Given the description of an element on the screen output the (x, y) to click on. 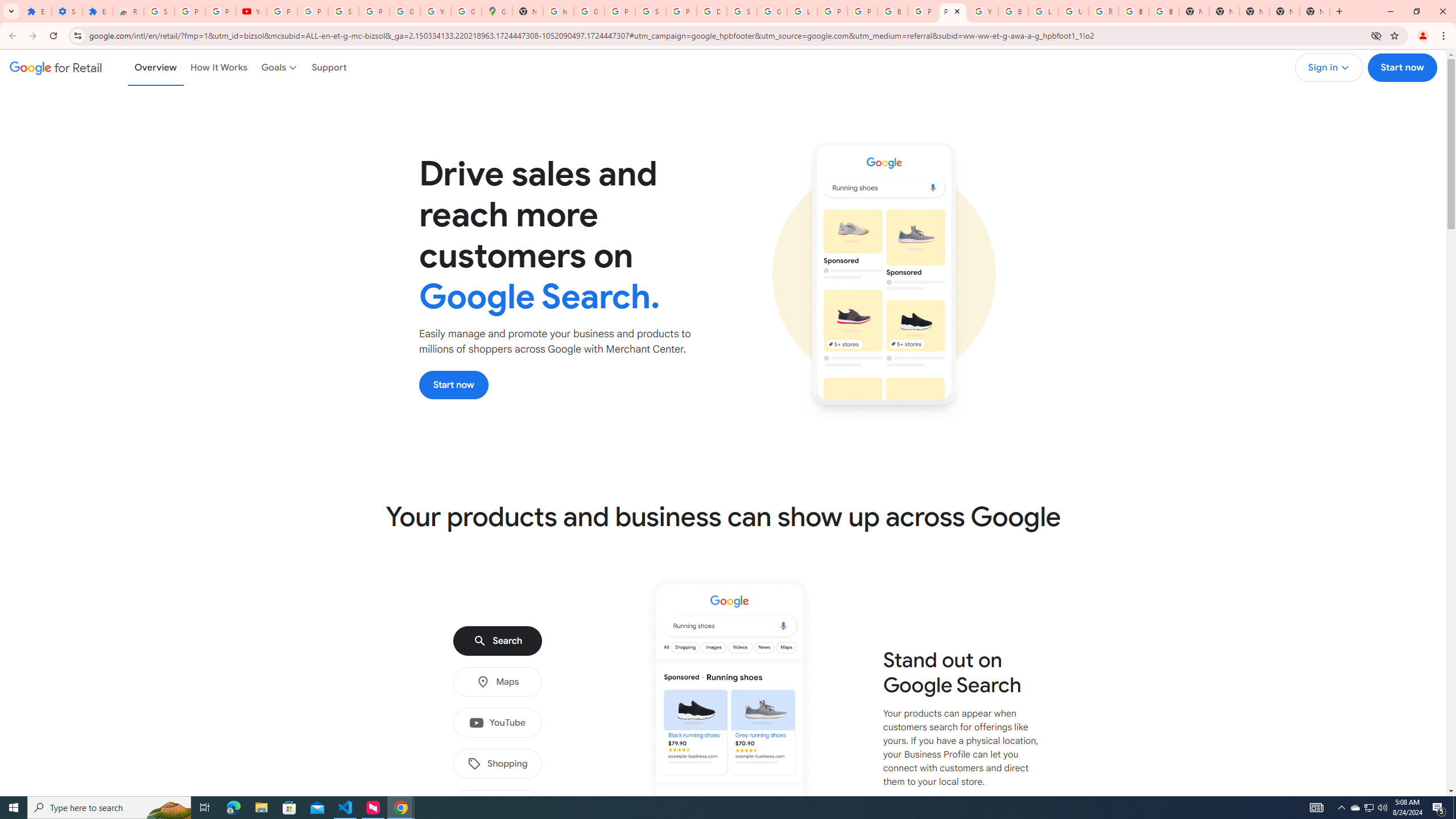
Sign in - Google Accounts (158, 11)
Shopping (496, 763)
Support (328, 67)
Google Account (404, 11)
How It Works (218, 67)
